Given the description of an element on the screen output the (x, y) to click on. 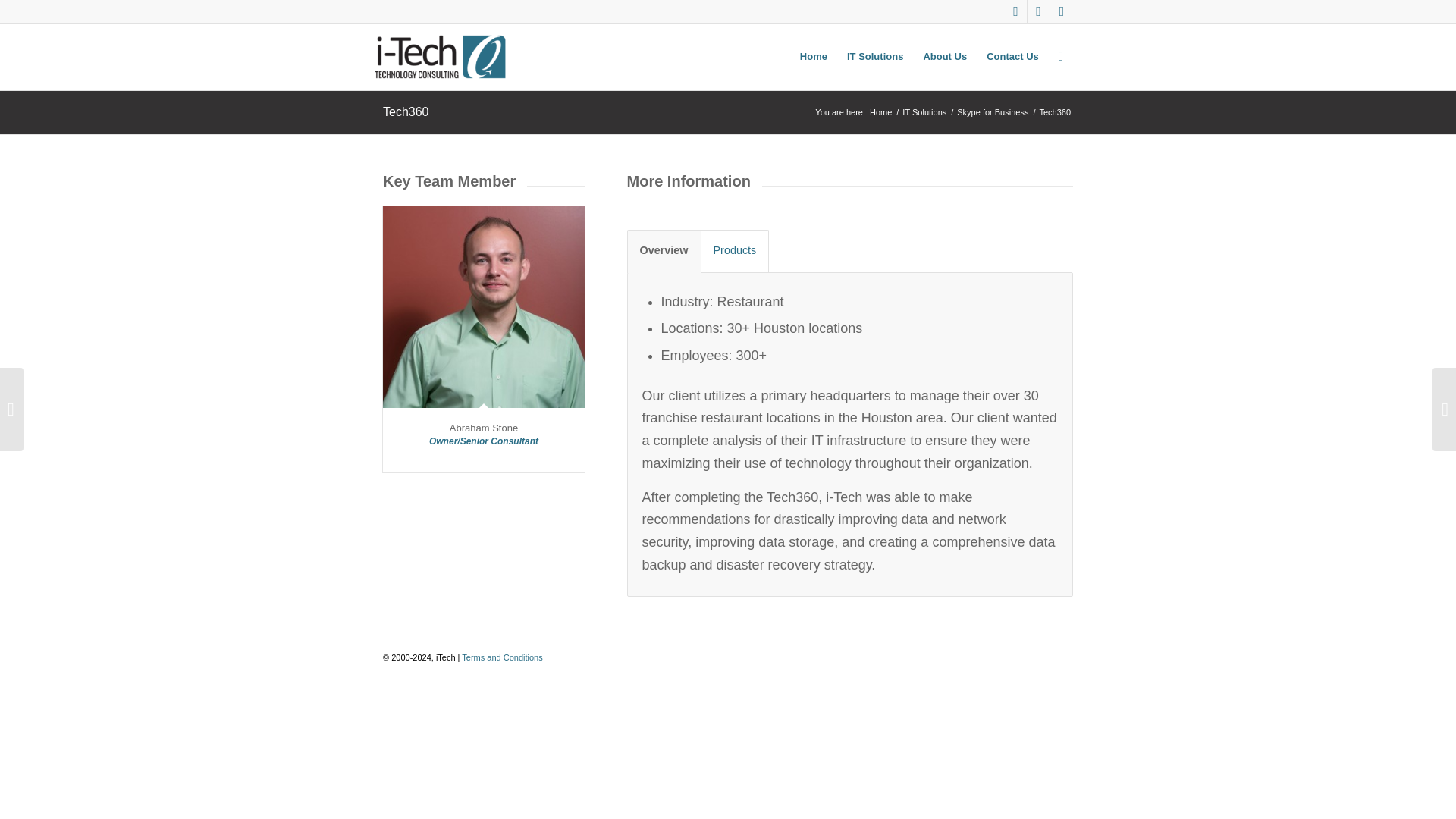
Terms and Conditions (501, 656)
iTech (880, 112)
Abraham Stone (483, 428)
Home (880, 112)
About Us (944, 56)
Tech360 (405, 111)
Contact Us (1012, 56)
Abraham Stone (483, 306)
Abraham Stone (483, 428)
Skype for Business (992, 112)
IT Solutions (874, 56)
Permanent Link: Tech360 (405, 111)
LinkedIn (1038, 11)
IT Solutions (924, 112)
Facebook (1061, 11)
